Given the description of an element on the screen output the (x, y) to click on. 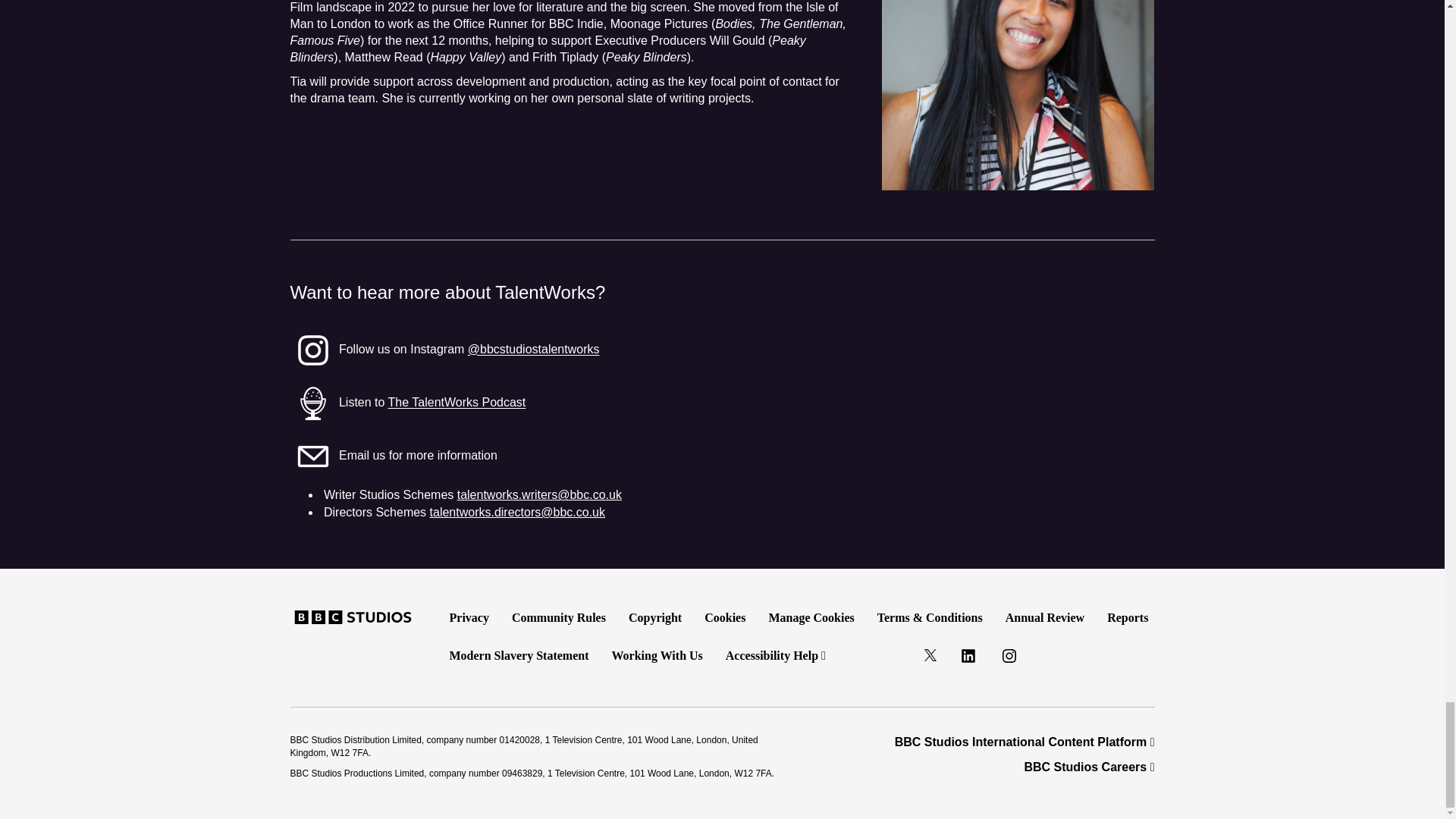
The TalentWorks Podcast (456, 402)
LinkdIn (967, 657)
Twitter (929, 655)
Privacy (469, 617)
Community Rules (558, 617)
Instagram (1008, 658)
